Given the description of an element on the screen output the (x, y) to click on. 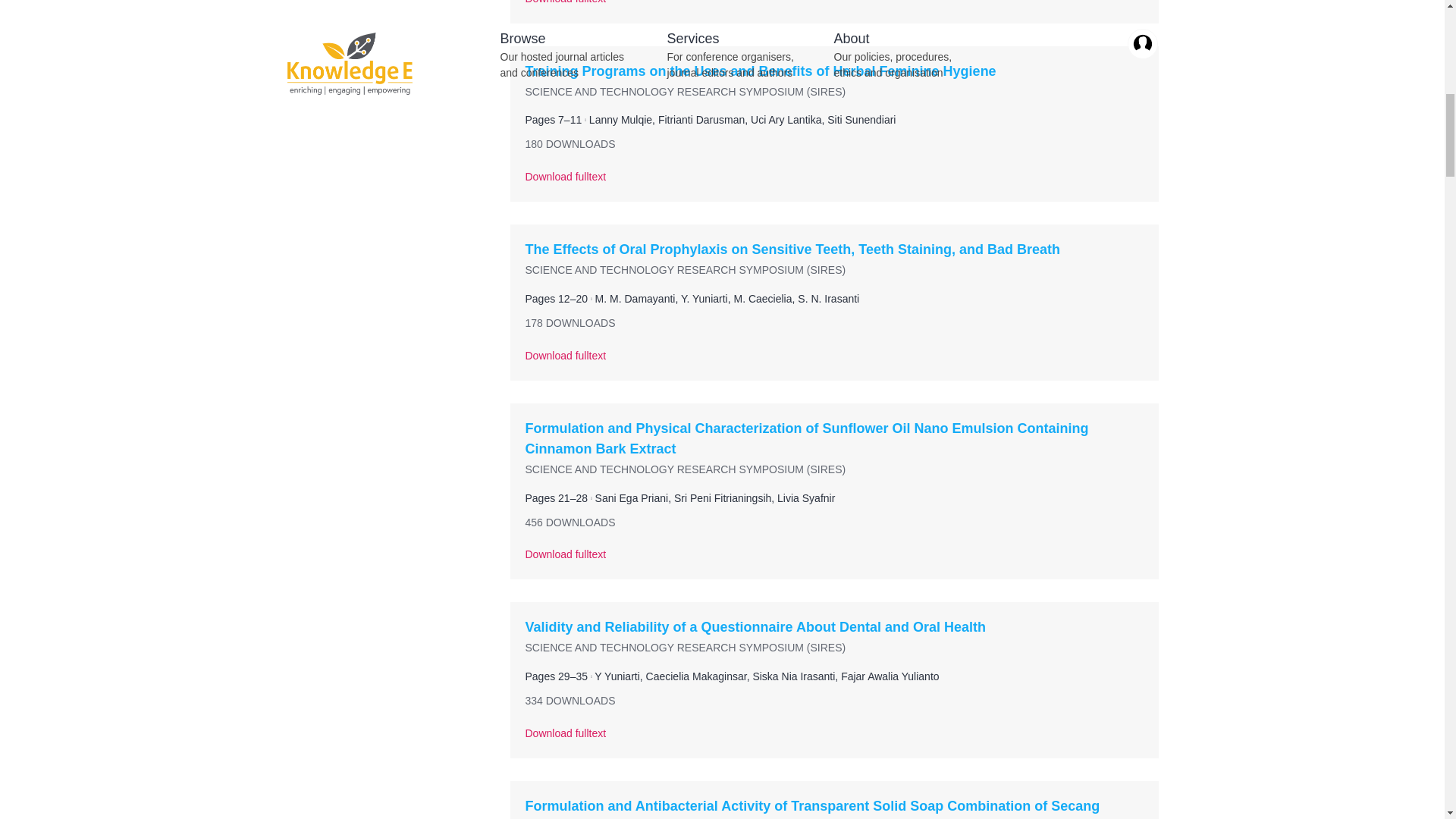
Download fulltext (833, 740)
Download fulltext (833, 183)
Download fulltext (833, 11)
Download fulltext (833, 561)
Download fulltext (833, 362)
